Given the description of an element on the screen output the (x, y) to click on. 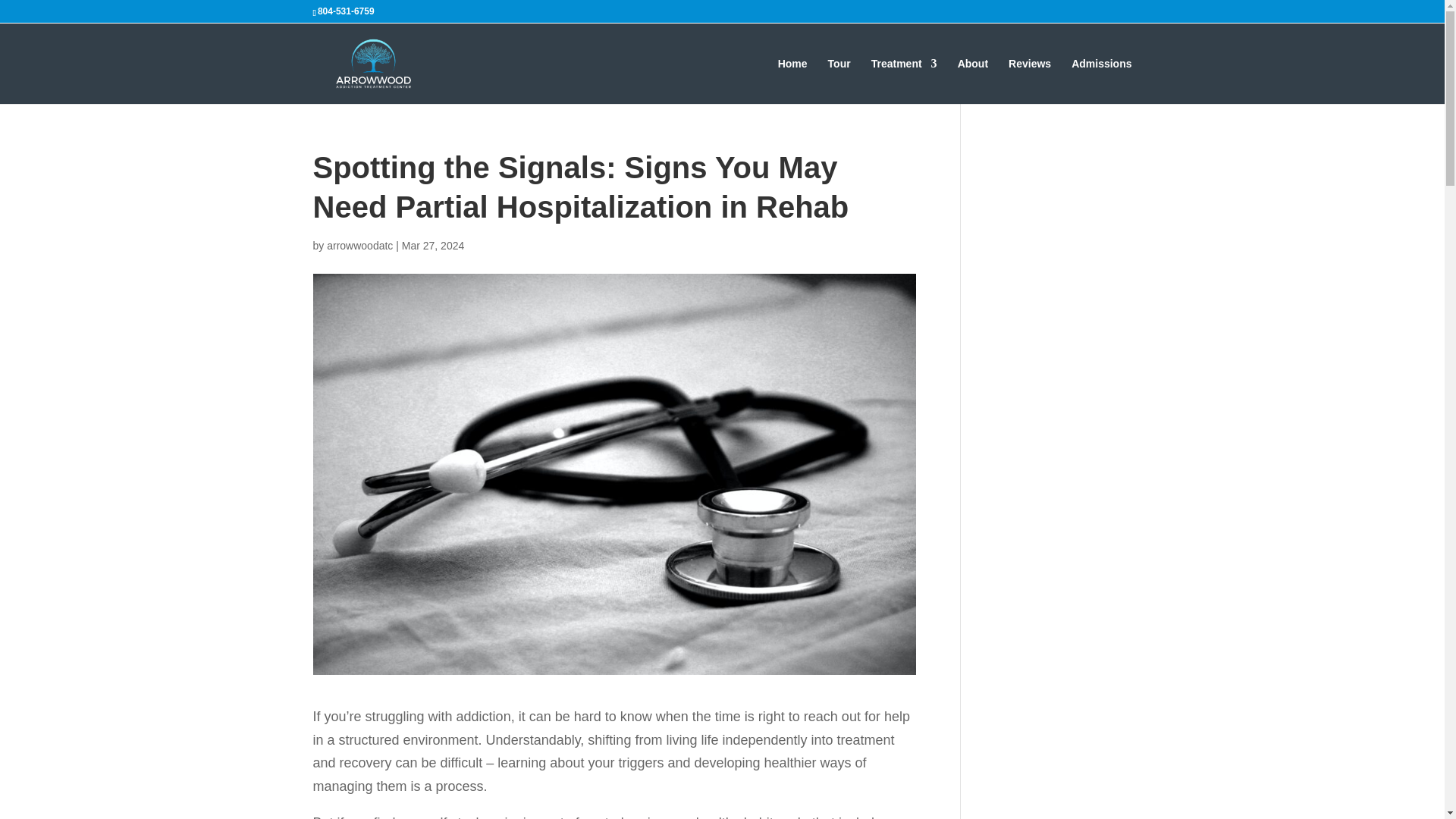
Treatment (903, 81)
Reviews (1030, 81)
Admissions (1101, 81)
arrowwoodatc (359, 245)
Posts by arrowwoodatc (359, 245)
804-531-6759 (345, 10)
